Given the description of an element on the screen output the (x, y) to click on. 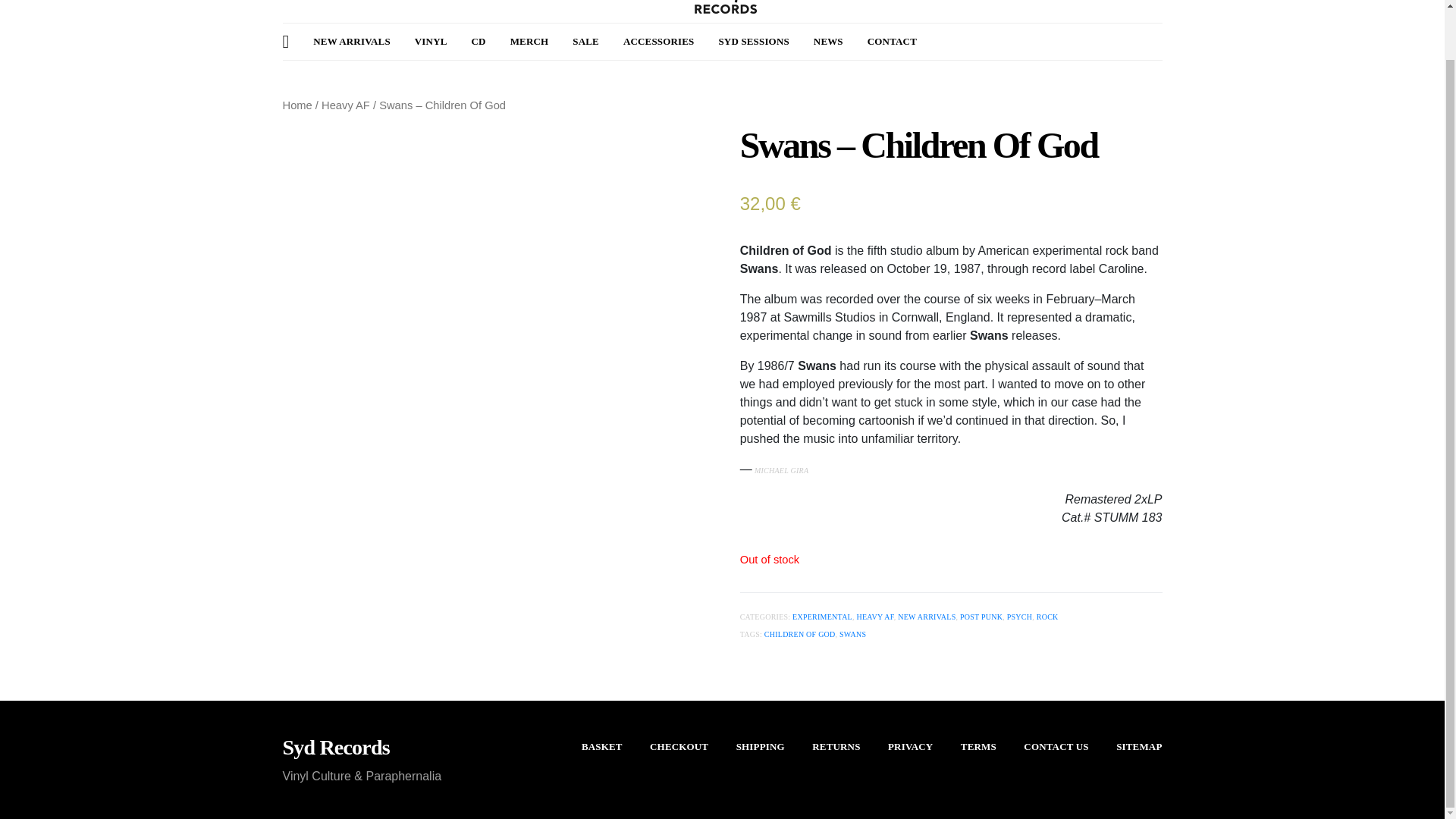
CONTACT (892, 41)
MERCH (529, 41)
Syd Records (335, 747)
PSYCH (1019, 616)
BASKET (601, 746)
SYD SESSIONS (753, 41)
SWANS (853, 633)
NEW ARRIVALS (351, 41)
CHILDREN OF GOD (799, 633)
Heavy AF (345, 105)
HEAVY AF (874, 616)
EXPERIMENTAL (821, 616)
VINYL (430, 41)
Home (296, 105)
ACCESSORIES (658, 41)
